Given the description of an element on the screen output the (x, y) to click on. 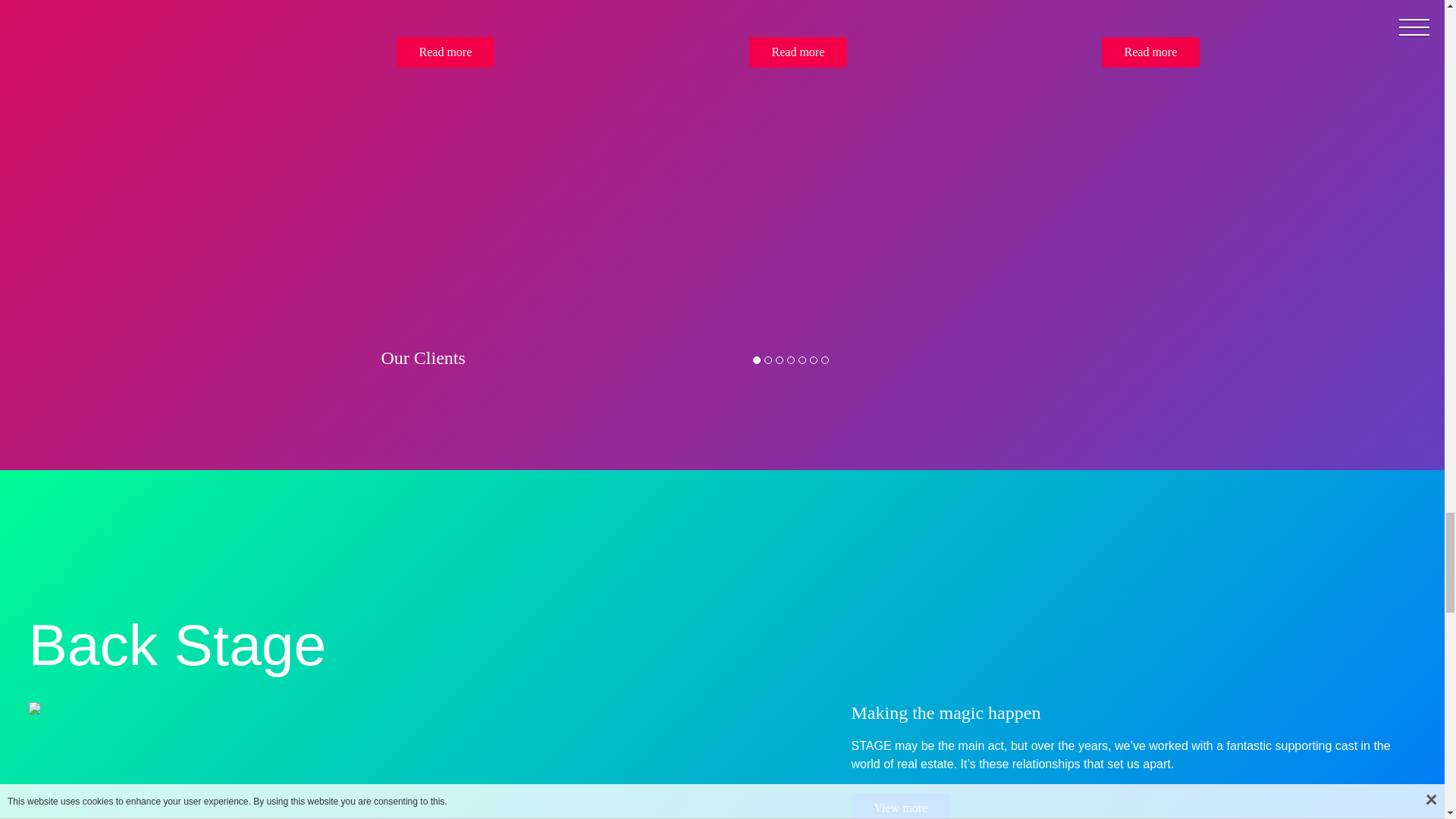
View more (900, 806)
Read more (798, 51)
Read more (1149, 51)
Read more (445, 51)
